Given the description of an element on the screen output the (x, y) to click on. 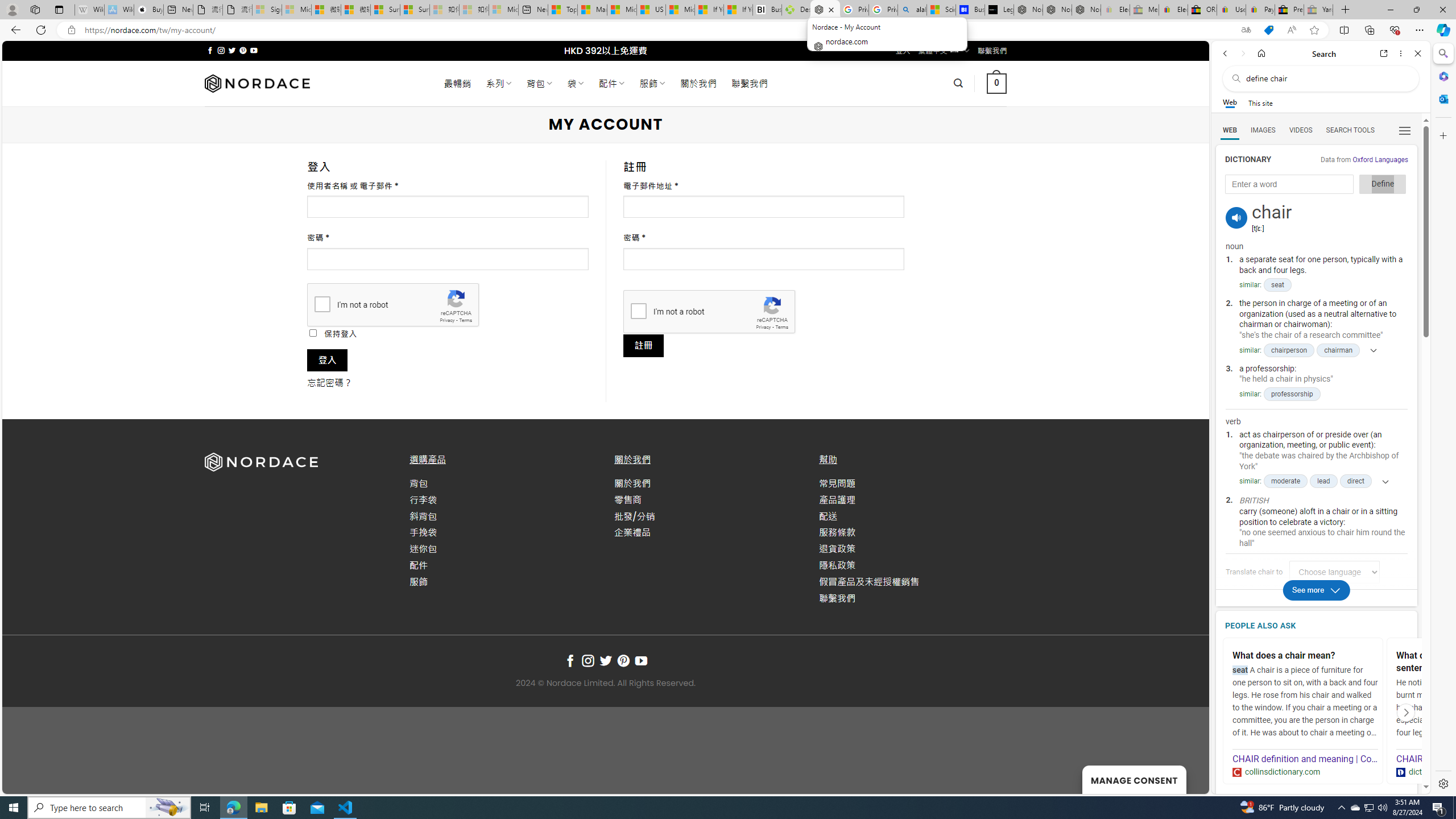
  0   (995, 83)
